Given the description of an element on the screen output the (x, y) to click on. 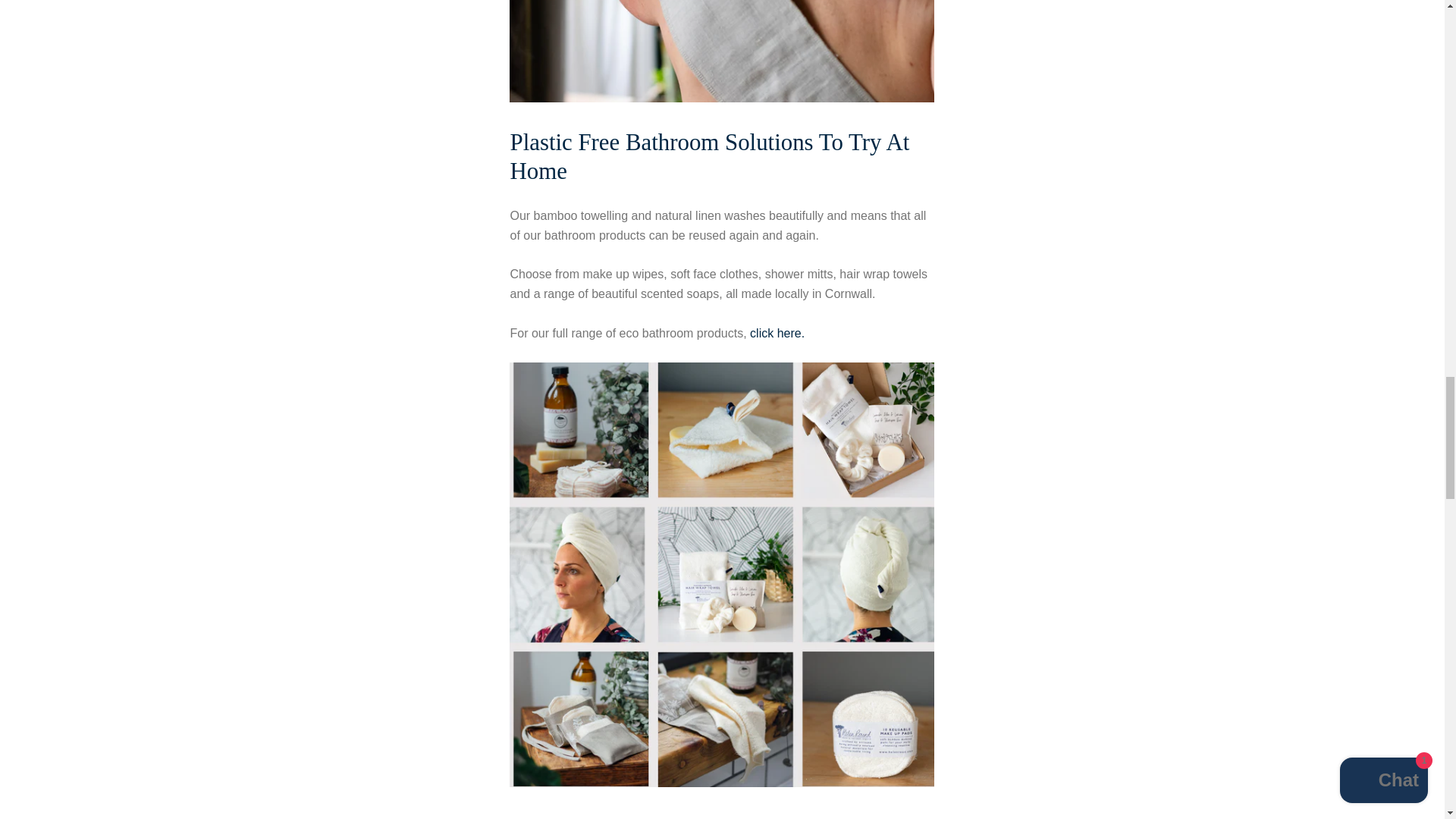
Eco Bathroom Products from the Eco Collection by Helen Round (721, 782)
